Given the description of an element on the screen output the (x, y) to click on. 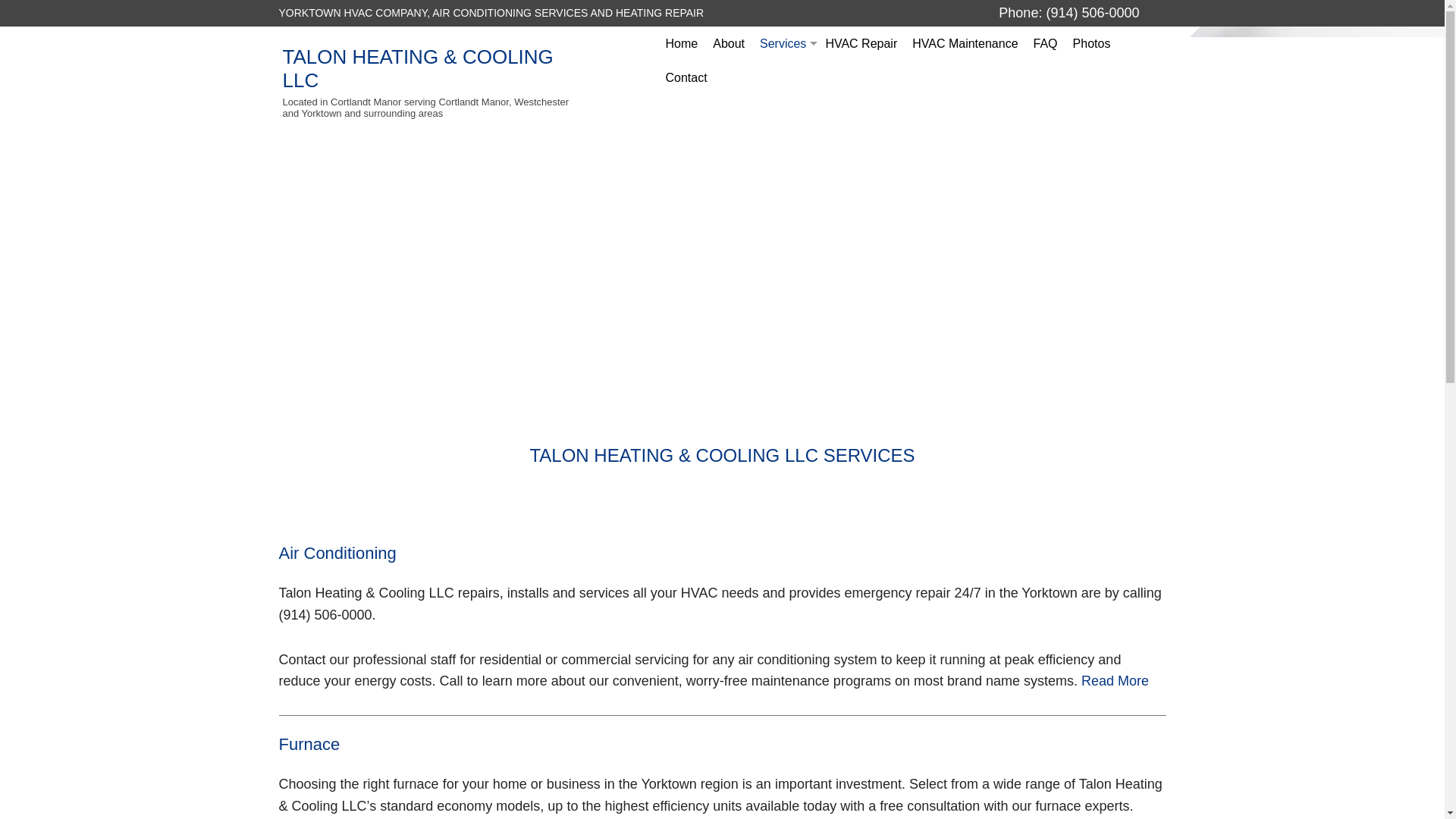
Home (682, 43)
Oil Burners (784, 213)
Air Conditioning (784, 77)
Photos (1091, 43)
Furnace (784, 111)
Heat Pump (784, 179)
FAQ (1045, 43)
Read More (1114, 680)
Boiler (784, 145)
Contact (686, 77)
HVAC Maintenance (964, 43)
About (728, 43)
HVAC Repair (860, 43)
Services (784, 43)
